Given the description of an element on the screen output the (x, y) to click on. 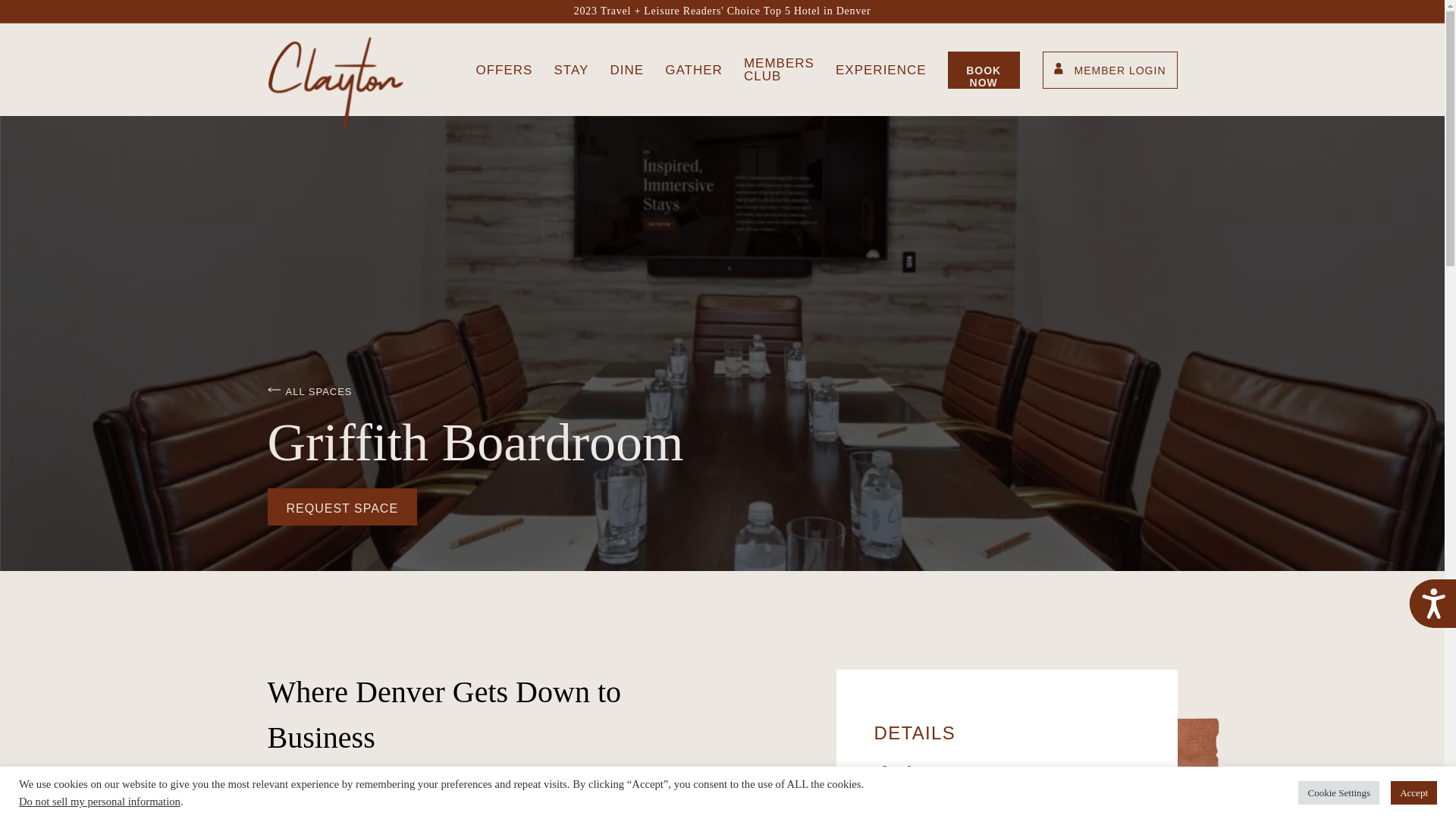
DINE (626, 68)
GATHER (693, 68)
EXPERIENCE (880, 68)
MEMBERS CLUB (778, 69)
STAY (570, 68)
OFFERS (504, 68)
